Given the description of an element on the screen output the (x, y) to click on. 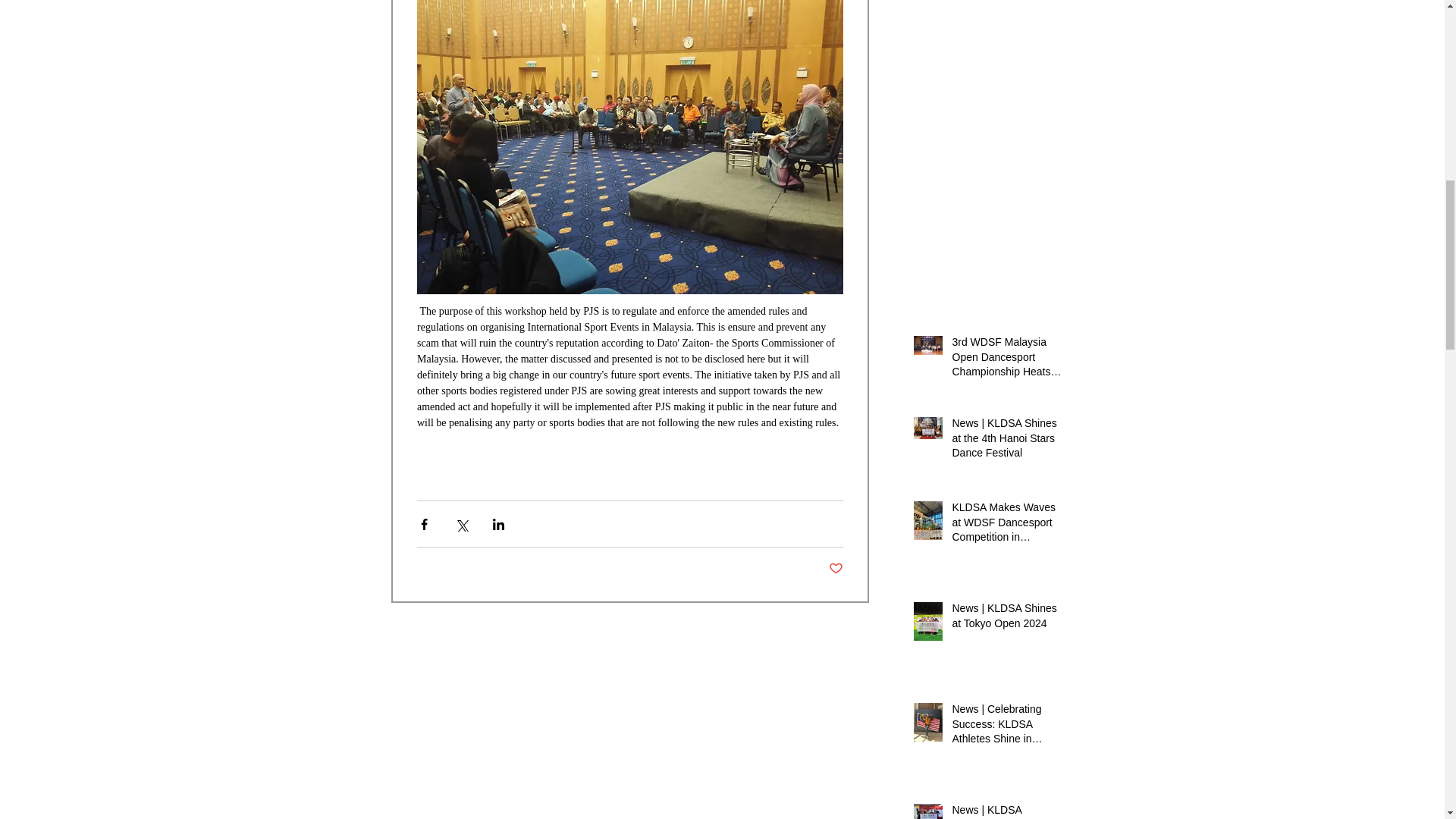
Post not marked as liked (835, 569)
KLDSA Makes Waves at WDSF Dancesport Competition in Bremen! (1006, 525)
